Given the description of an element on the screen output the (x, y) to click on. 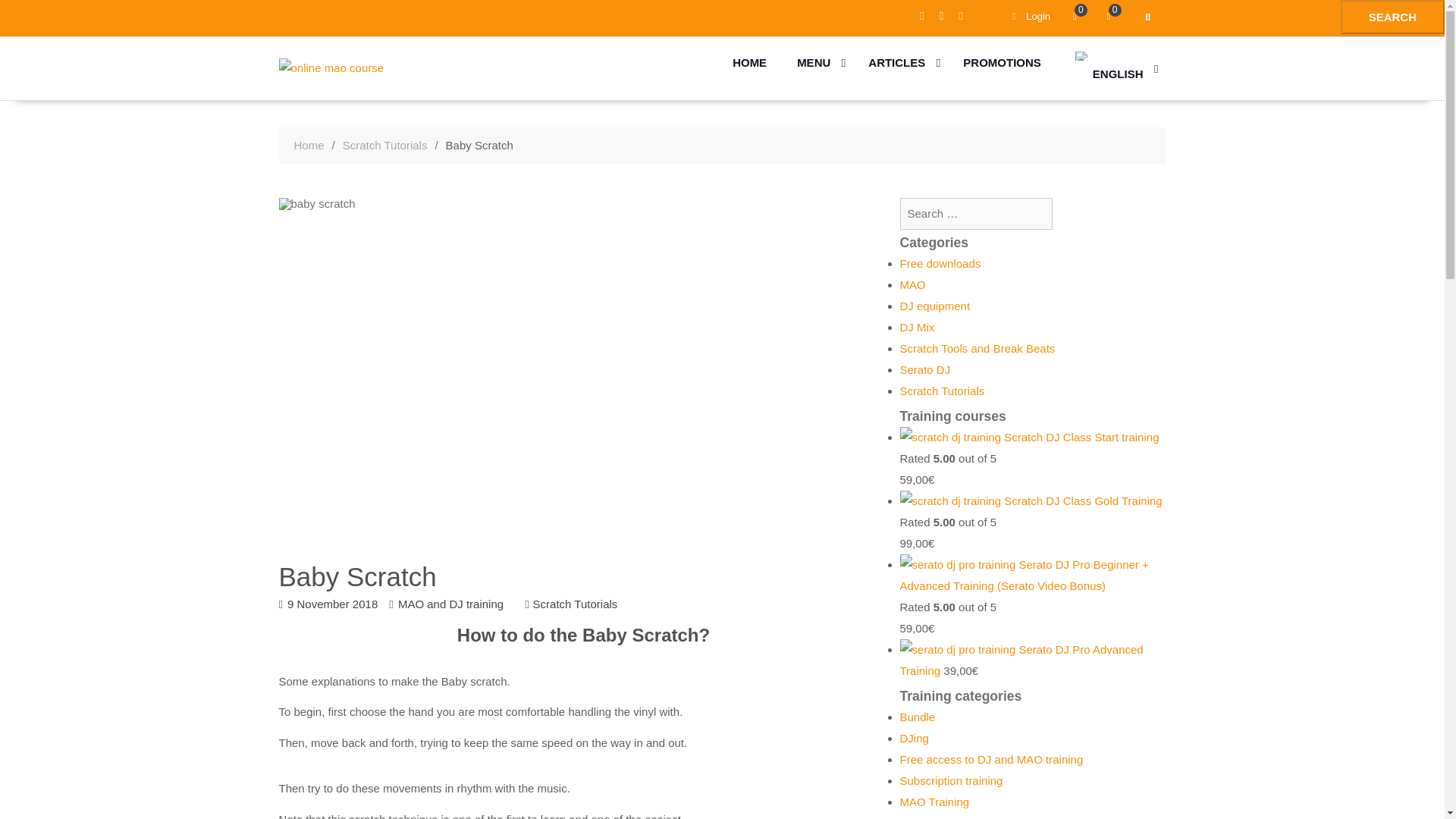
Login (1030, 16)
MENU (817, 62)
0 (1112, 16)
English (1082, 55)
HOME (749, 62)
0 (1078, 16)
